Given the description of an element on the screen output the (x, y) to click on. 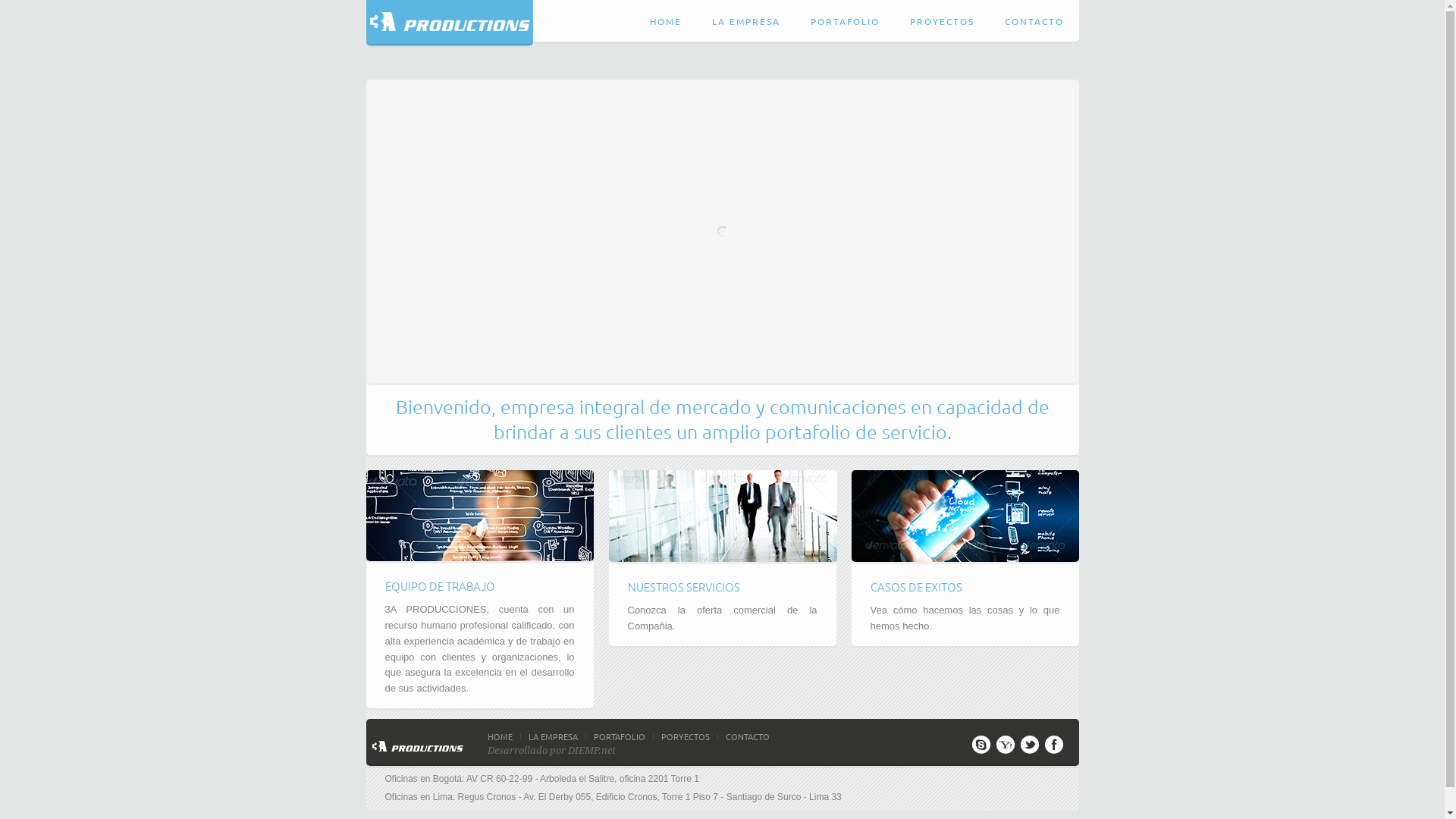
PORTAFOLIO Element type: text (622, 736)
Seguir: Yahoo! Element type: hover (1005, 747)
HOME Element type: text (503, 736)
PORYECTOS Element type: text (689, 736)
DESIGN Element type: text (413, 696)
CONTACTO Element type: text (750, 736)
DESIGN Element type: text (656, 633)
Seguir: Facebook! Element type: hover (1053, 747)
Contactarse Skype! Element type: hover (981, 747)
CASOS DE EXITOS Element type: text (916, 586)
DESIGN Element type: text (898, 633)
Seguir:n Twitter! Element type: hover (1029, 747)
LA EMPRESA Element type: text (556, 736)
